Given the description of an element on the screen output the (x, y) to click on. 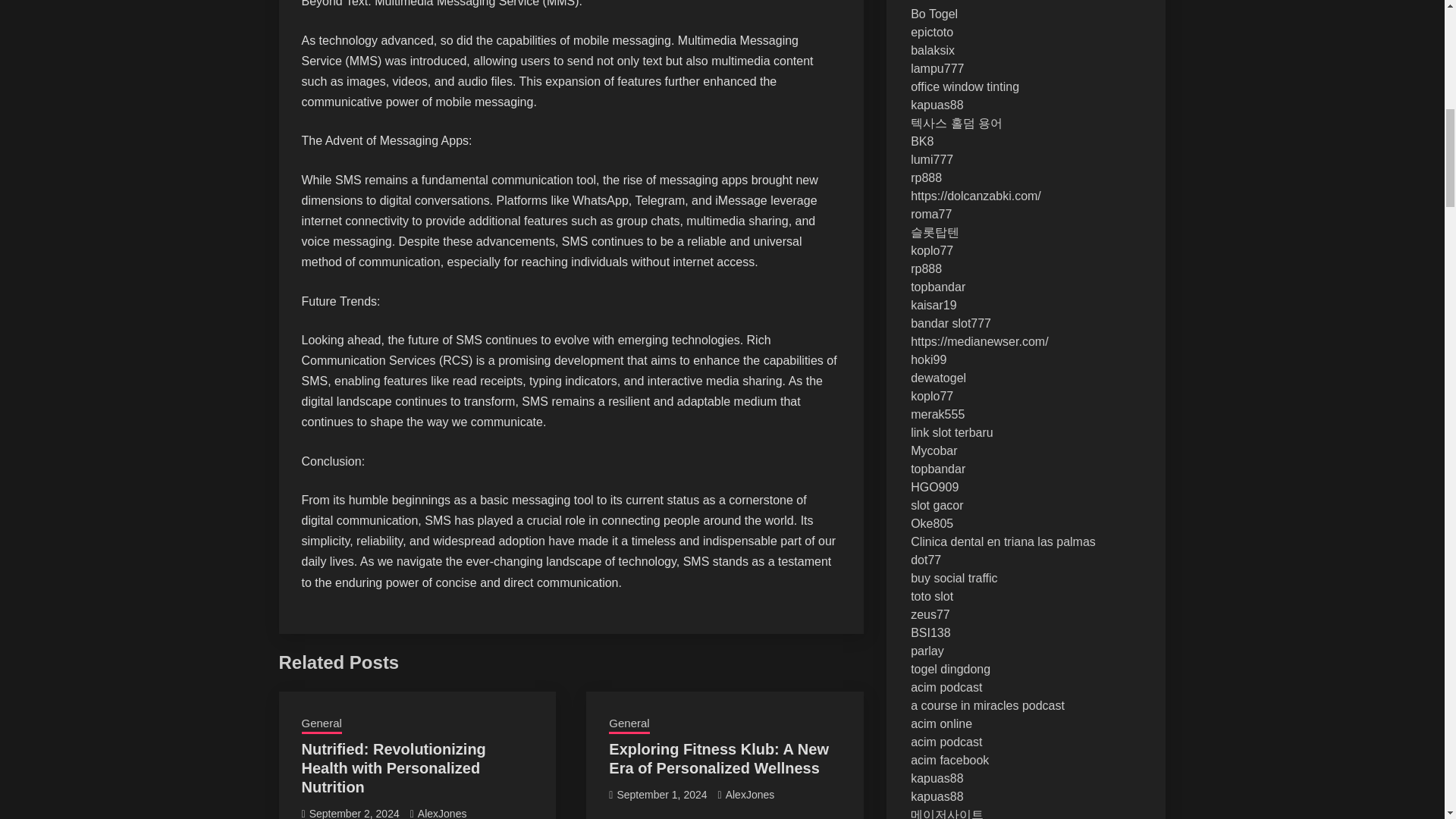
September 1, 2024 (660, 794)
September 2, 2024 (353, 813)
Exploring Fitness Klub: A New Era of Personalized Wellness (718, 758)
General (628, 724)
AlexJones (442, 813)
AlexJones (749, 794)
General (321, 724)
